Given the description of an element on the screen output the (x, y) to click on. 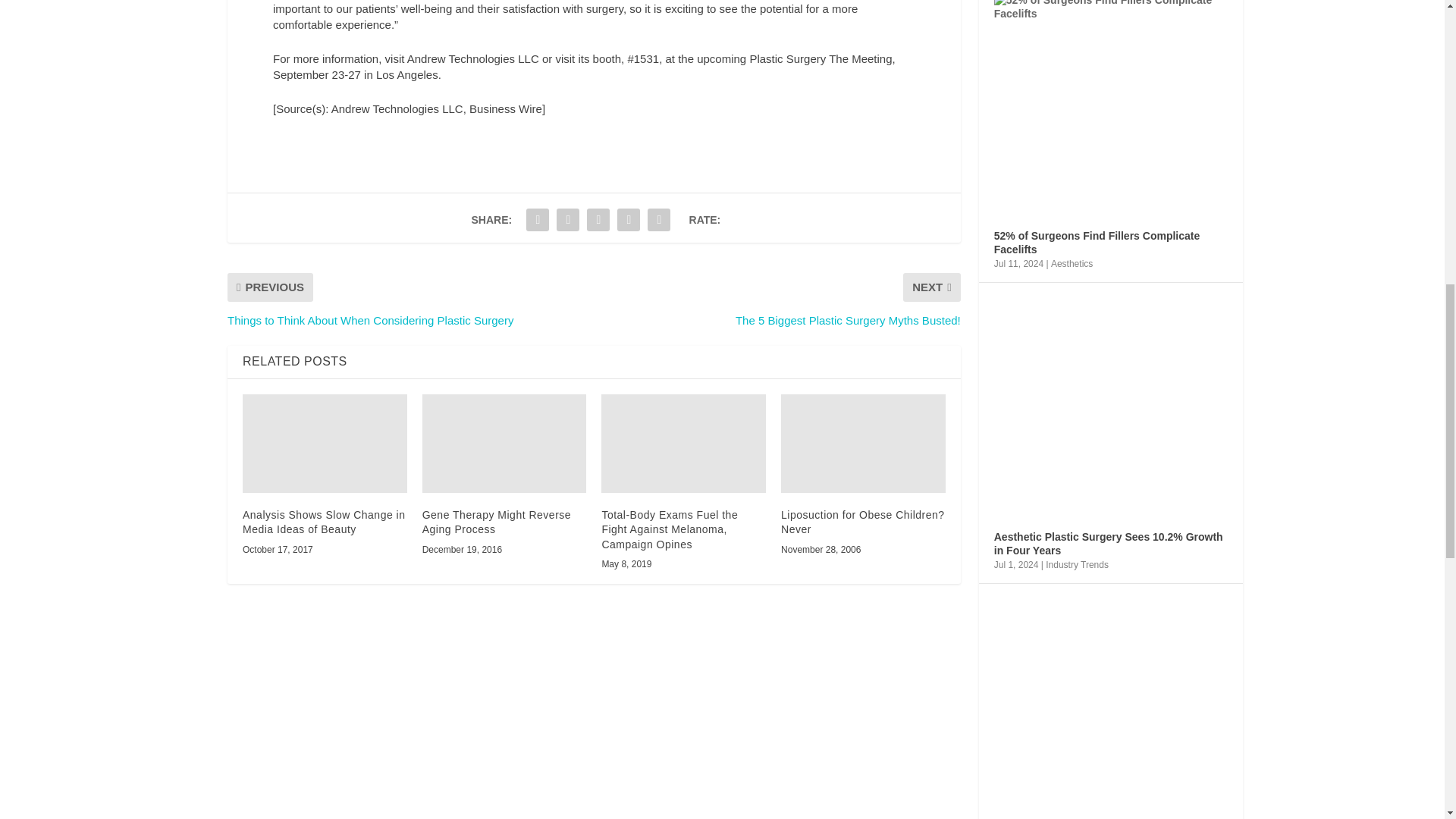
Gene Therapy Might Reverse Aging Process (496, 522)
Analysis Shows Slow Change in Media Ideas of Beauty (324, 522)
Analysis Shows Slow Change in Media Ideas of Beauty (325, 443)
Gene Therapy Might Reverse Aging Process (504, 443)
Liposuction for Obese Children? Never (862, 443)
